Given the description of an element on the screen output the (x, y) to click on. 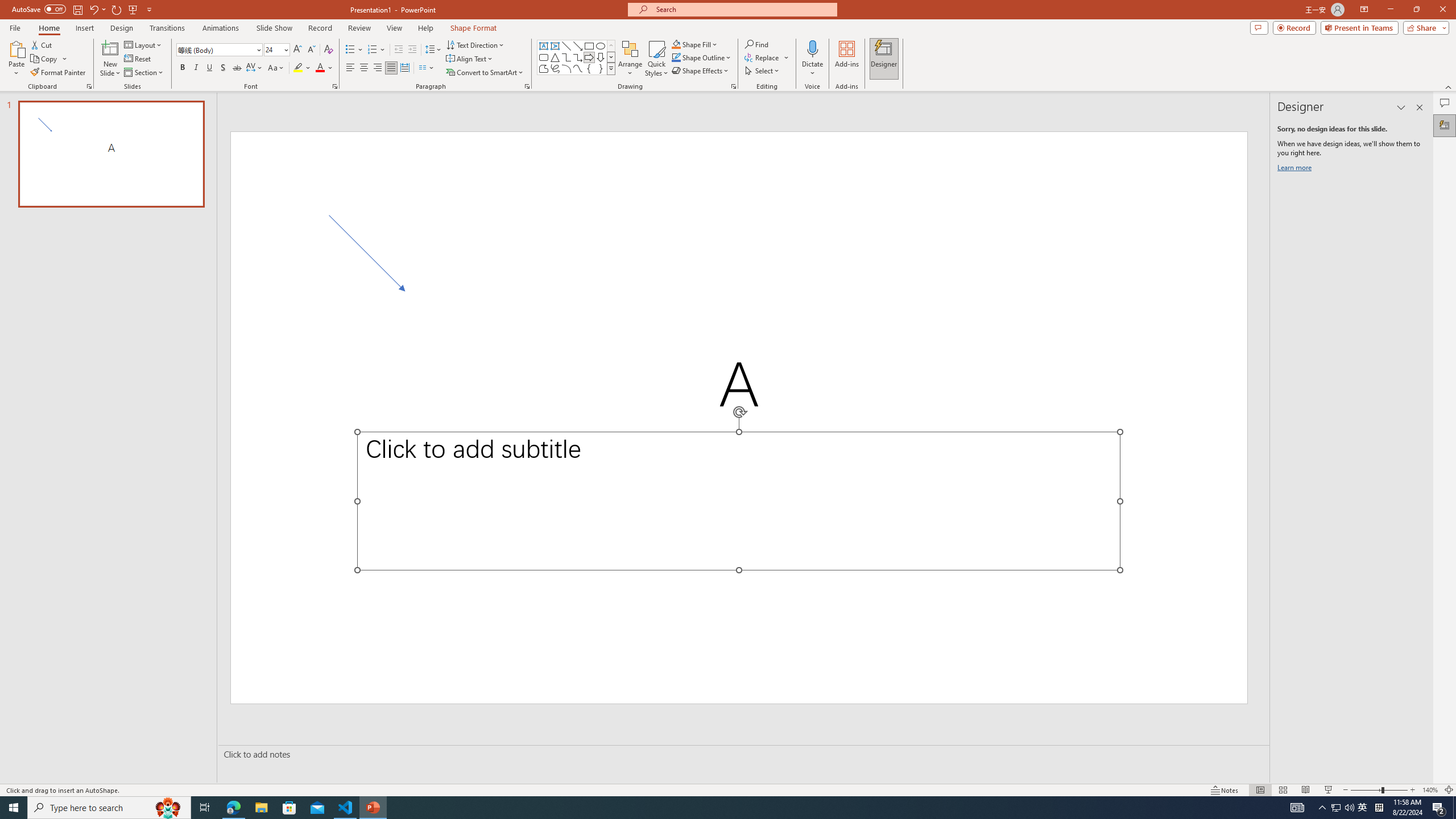
Shape Fill Orange, Accent 2 (675, 44)
Shape Effects (700, 69)
